Given the description of an element on the screen output the (x, y) to click on. 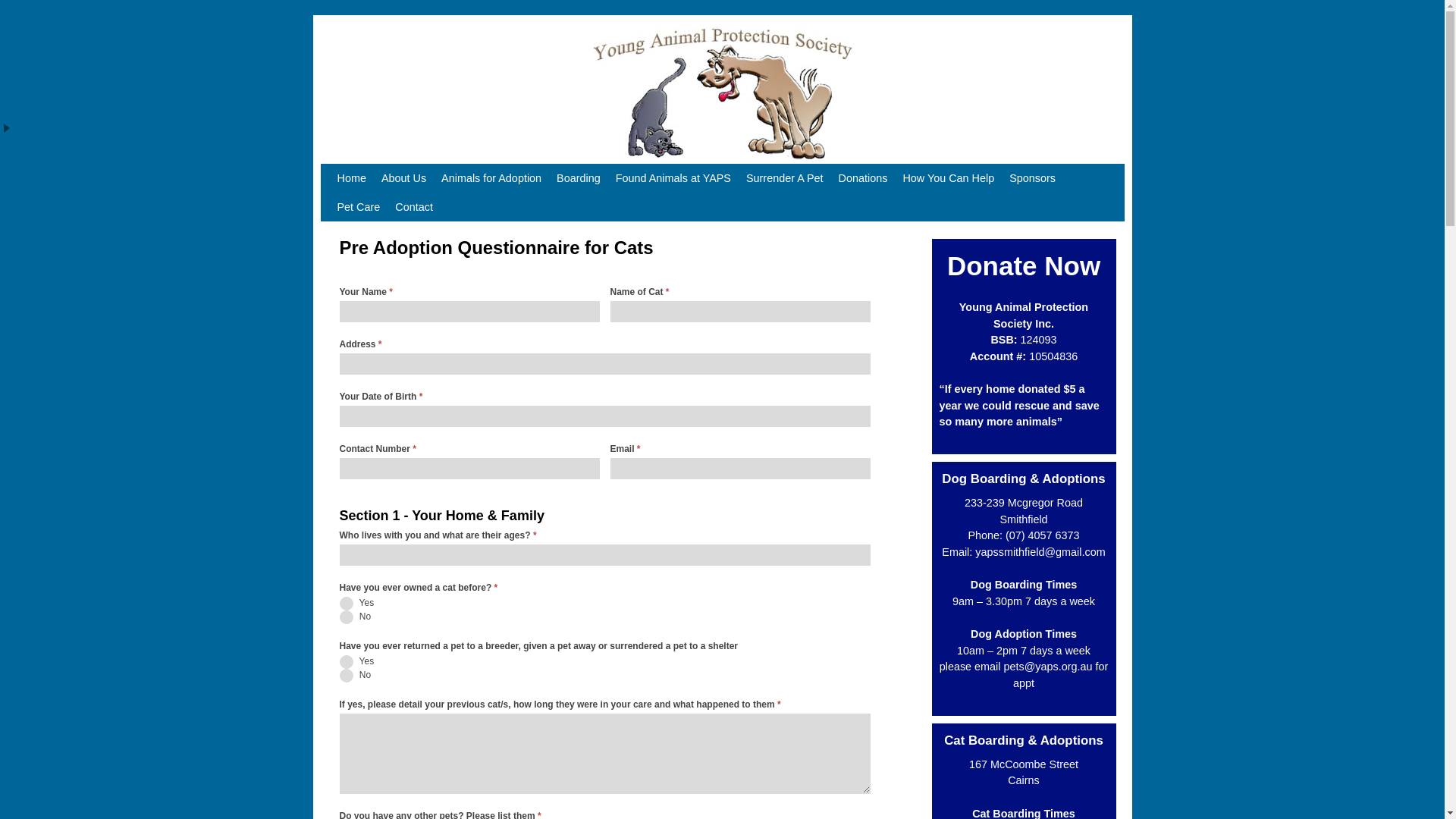
Pet Care Element type: text (358, 206)
Home Element type: text (351, 177)
Donations Element type: text (863, 177)
Found Animals at YAPS Element type: text (673, 177)
About Us Element type: text (403, 177)
Surrender A Pet Element type: text (784, 177)
Contact Element type: text (413, 206)
Boarding Element type: text (578, 177)
Sponsors Element type: text (1032, 177)
Skip to primary content Element type: text (366, 170)
Skip to secondary content Element type: text (372, 170)
yapssmithfield@gmail.com Element type: text (1039, 552)
How You Can Help Element type: text (947, 177)
Animals for Adoption Element type: text (491, 177)
